Given the description of an element on the screen output the (x, y) to click on. 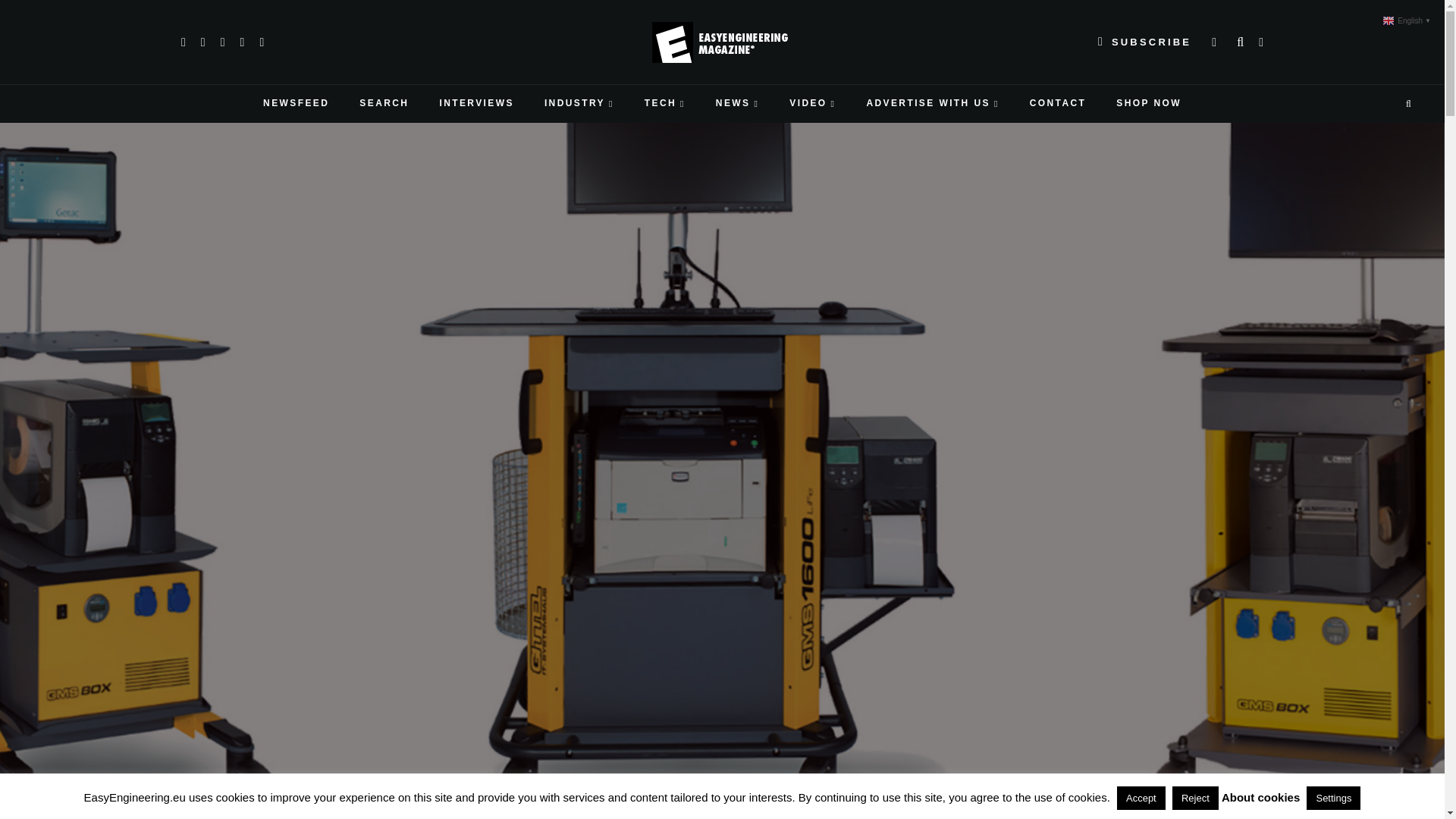
SEARCH (383, 103)
INDUSTRY (578, 103)
INTERVIEWS (475, 103)
NEWSFEED (295, 103)
SUBSCRIBE (1144, 41)
